Given the description of an element on the screen output the (x, y) to click on. 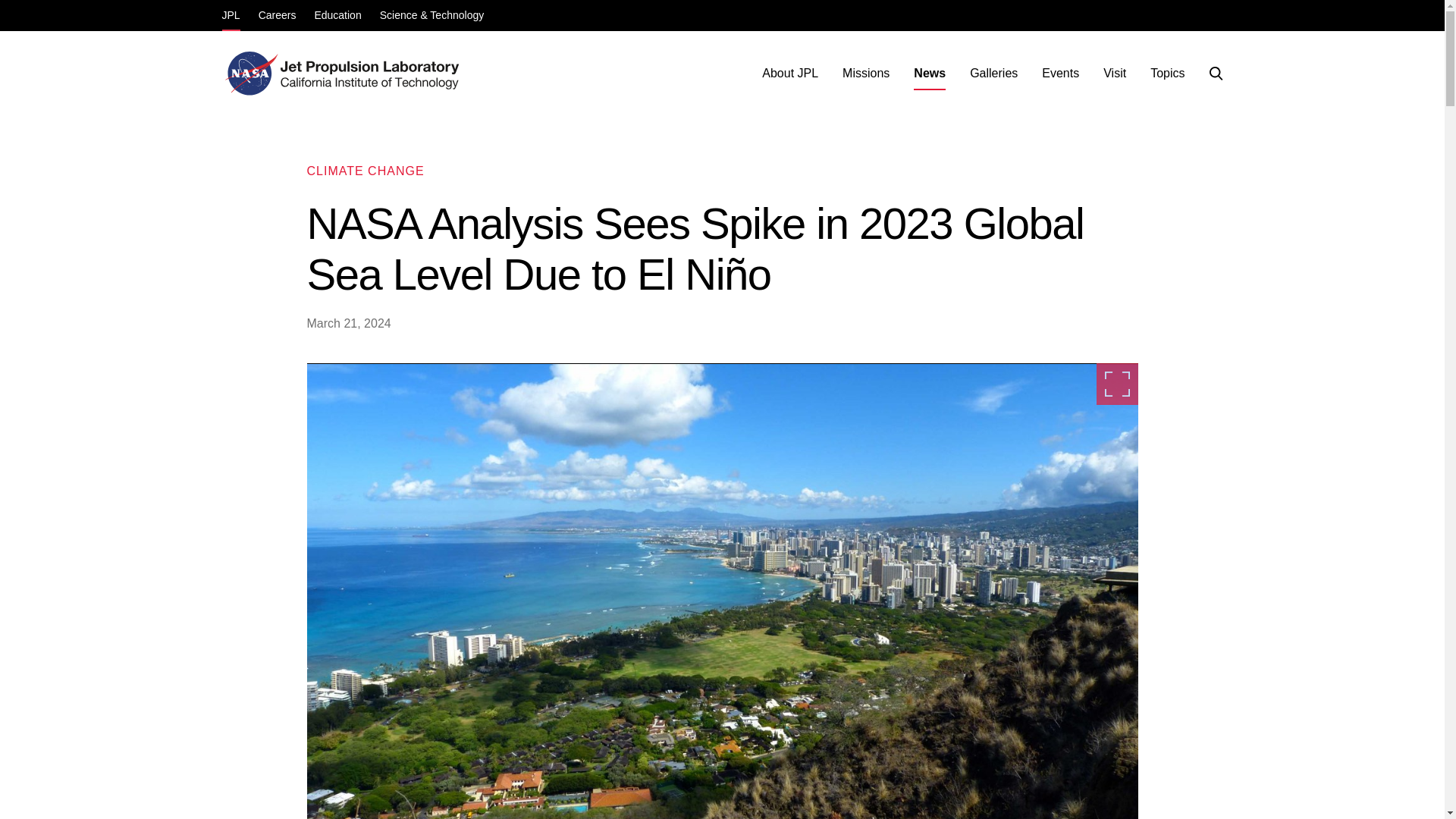
Galleries (993, 73)
Careers (278, 16)
Missions (865, 73)
Topics (1167, 73)
About JPL (789, 73)
News (929, 73)
Education (337, 16)
Visit (1114, 73)
Events (1059, 73)
NASA (248, 72)
CLIMATE CHANGE (364, 170)
JPL Home (372, 72)
